Given the description of an element on the screen output the (x, y) to click on. 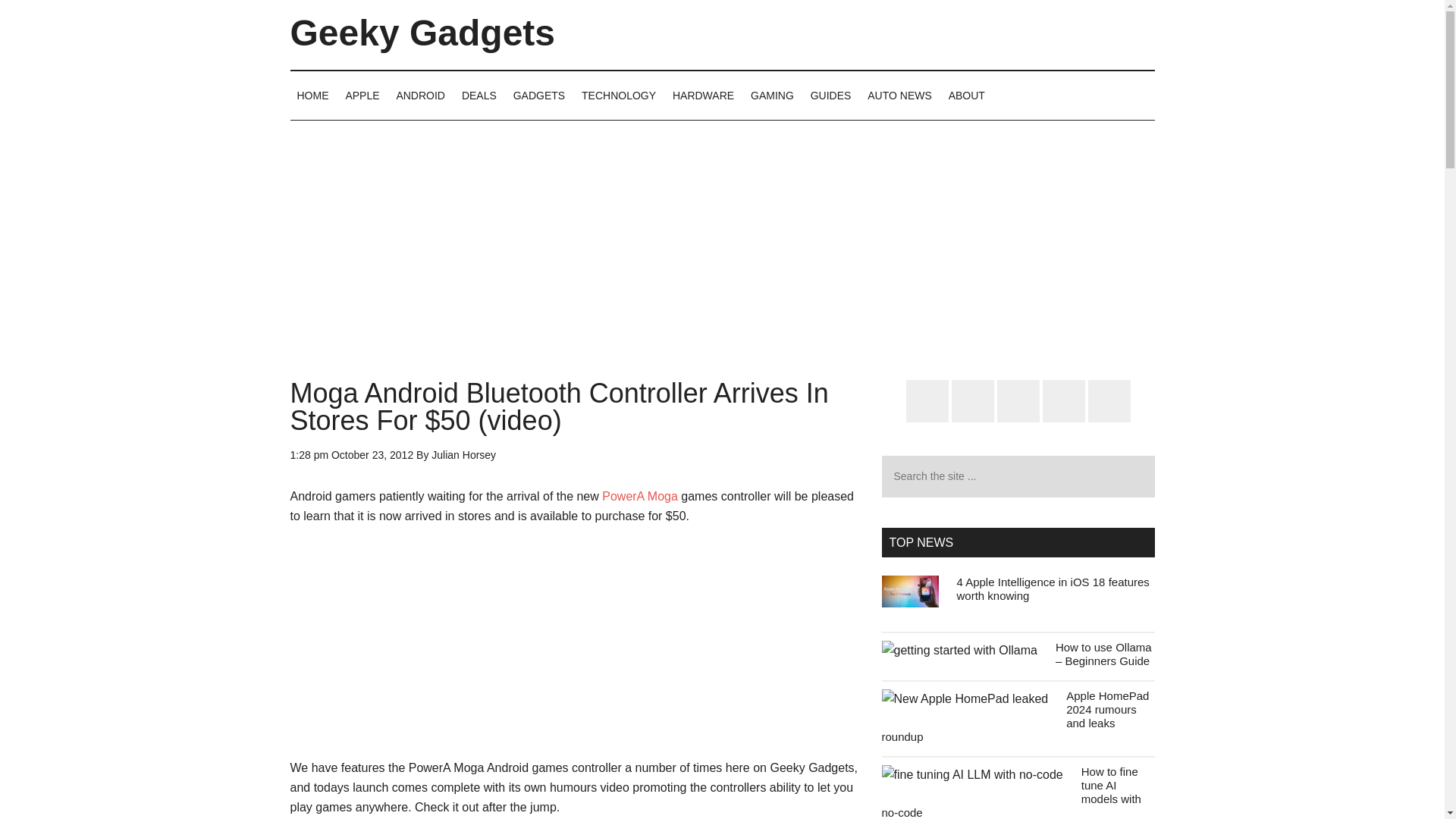
GADGETS (539, 95)
Geeky Gadgets (421, 33)
DEALS (478, 95)
PowerA Moga Android Game Controller (640, 495)
HOME (311, 95)
PowerA Moga (640, 495)
APPLE (361, 95)
ANDROID (419, 95)
GUIDES (831, 95)
4 Apple Intelligence in iOS 18 features worth knowing (1053, 588)
Julian Horsey (463, 454)
TECHNOLOGY (618, 95)
About Geeky Gadgets (966, 95)
GAMING (772, 95)
